Given the description of an element on the screen output the (x, y) to click on. 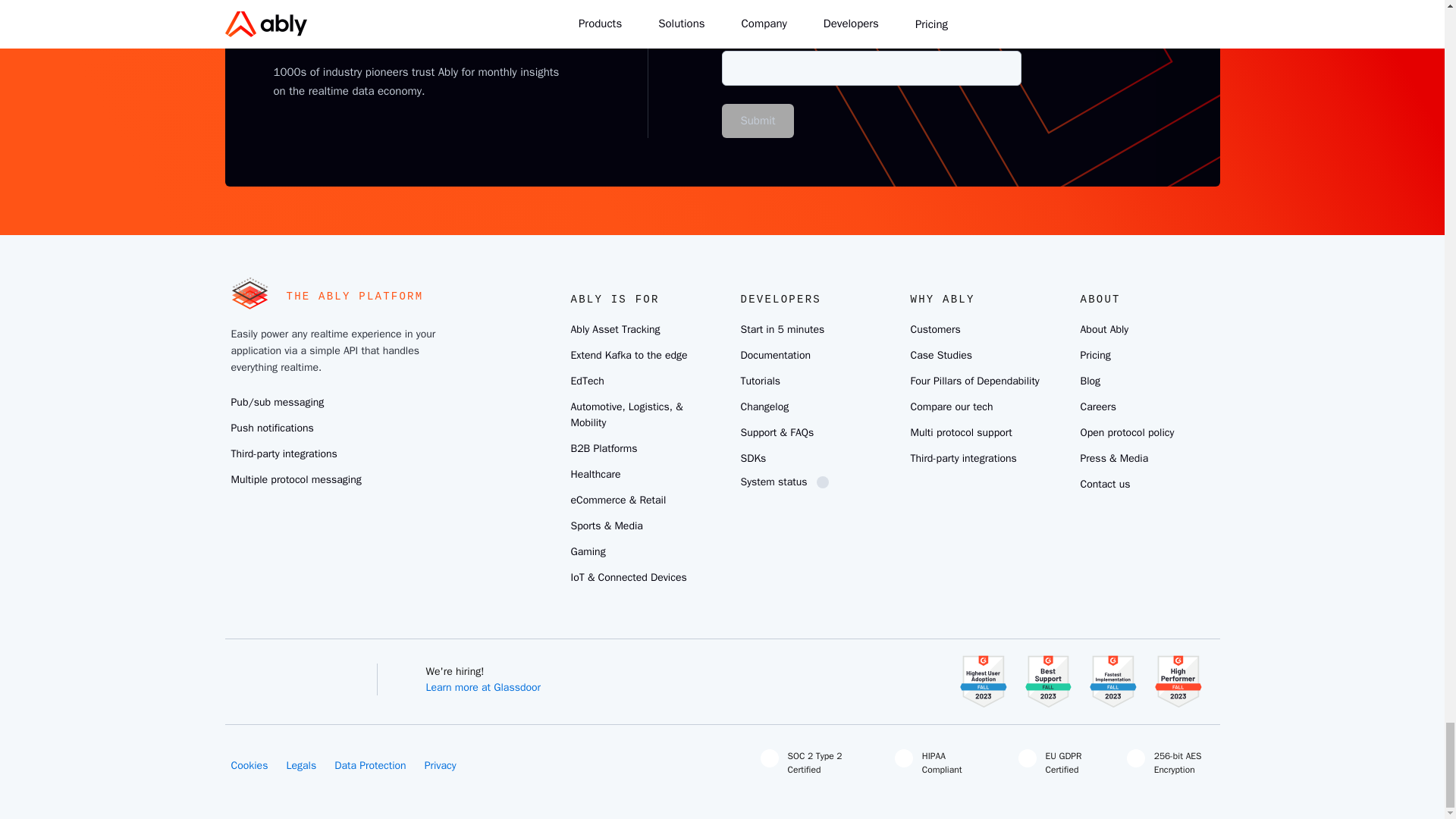
Ably on Github (320, 672)
Ably on LinkedIn (284, 672)
Ably reviews on glassdoor (404, 672)
Ably on Discord (357, 672)
Ably on X (248, 672)
